Given the description of an element on the screen output the (x, y) to click on. 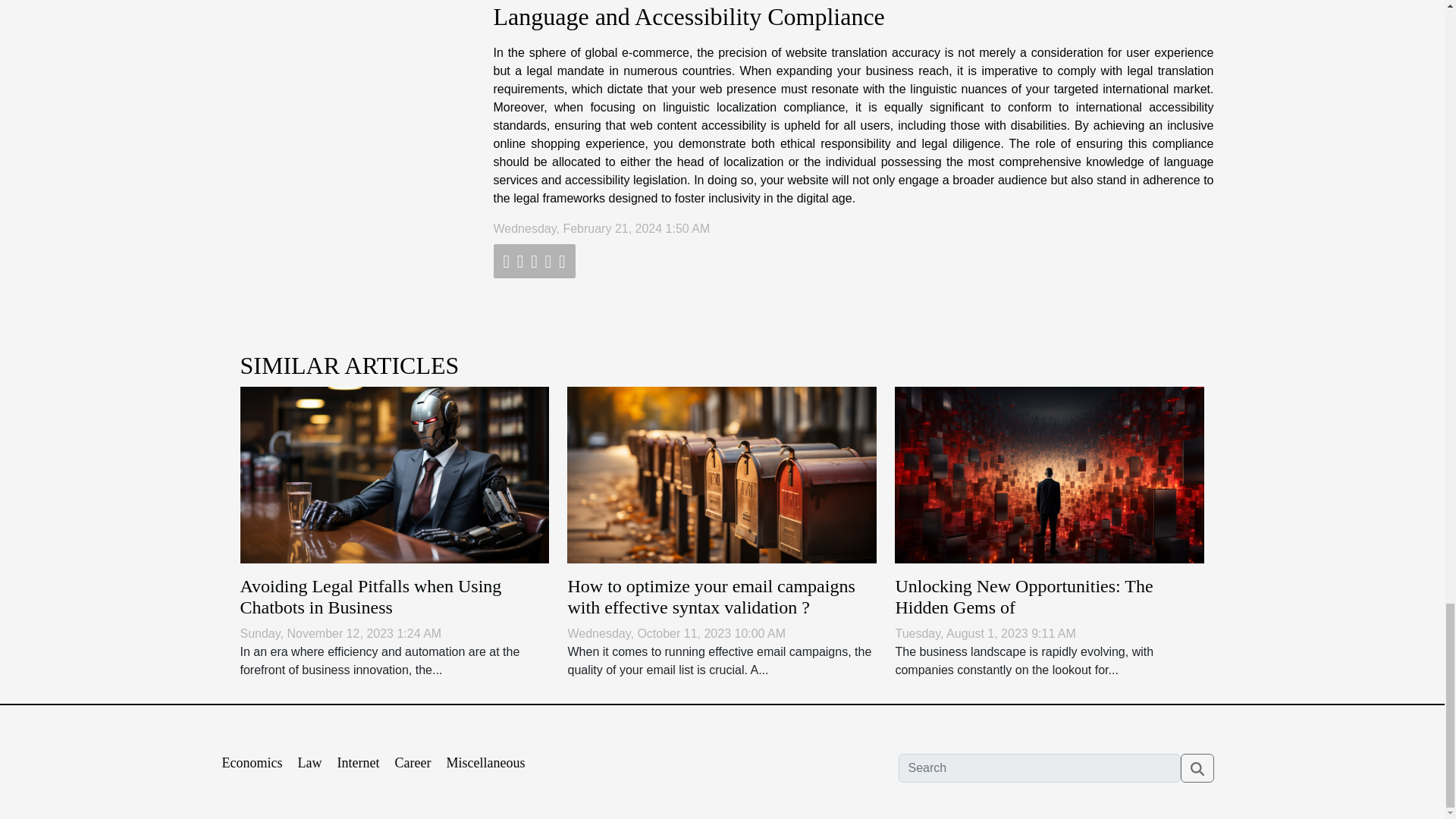
Law (309, 762)
Unlocking New Opportunities: The Hidden Gems of (1049, 472)
Economics (251, 762)
Avoiding Legal Pitfalls when Using Chatbots in Business (370, 597)
Avoiding Legal Pitfalls when Using Chatbots in Business (394, 472)
Internet (357, 762)
Law (309, 762)
Avoiding Legal Pitfalls when Using Chatbots in Business (370, 597)
